Given the description of an element on the screen output the (x, y) to click on. 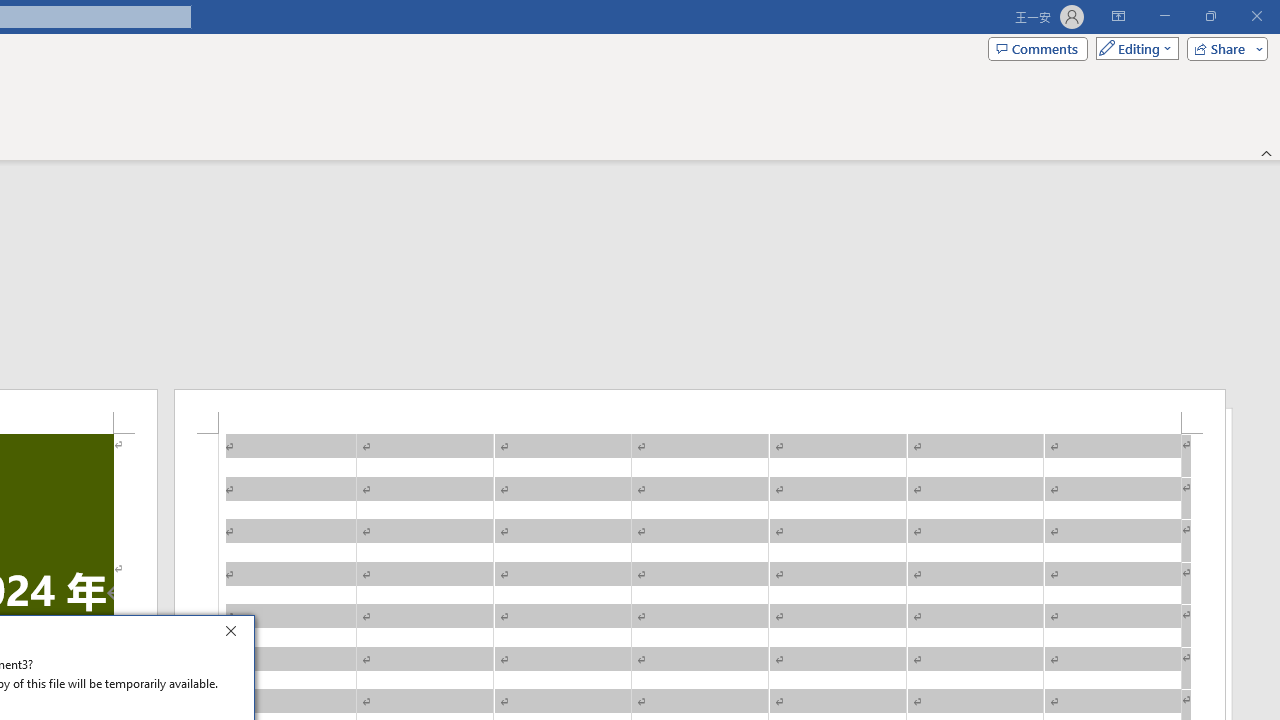
Header -Section 1- (700, 411)
